Given the description of an element on the screen output the (x, y) to click on. 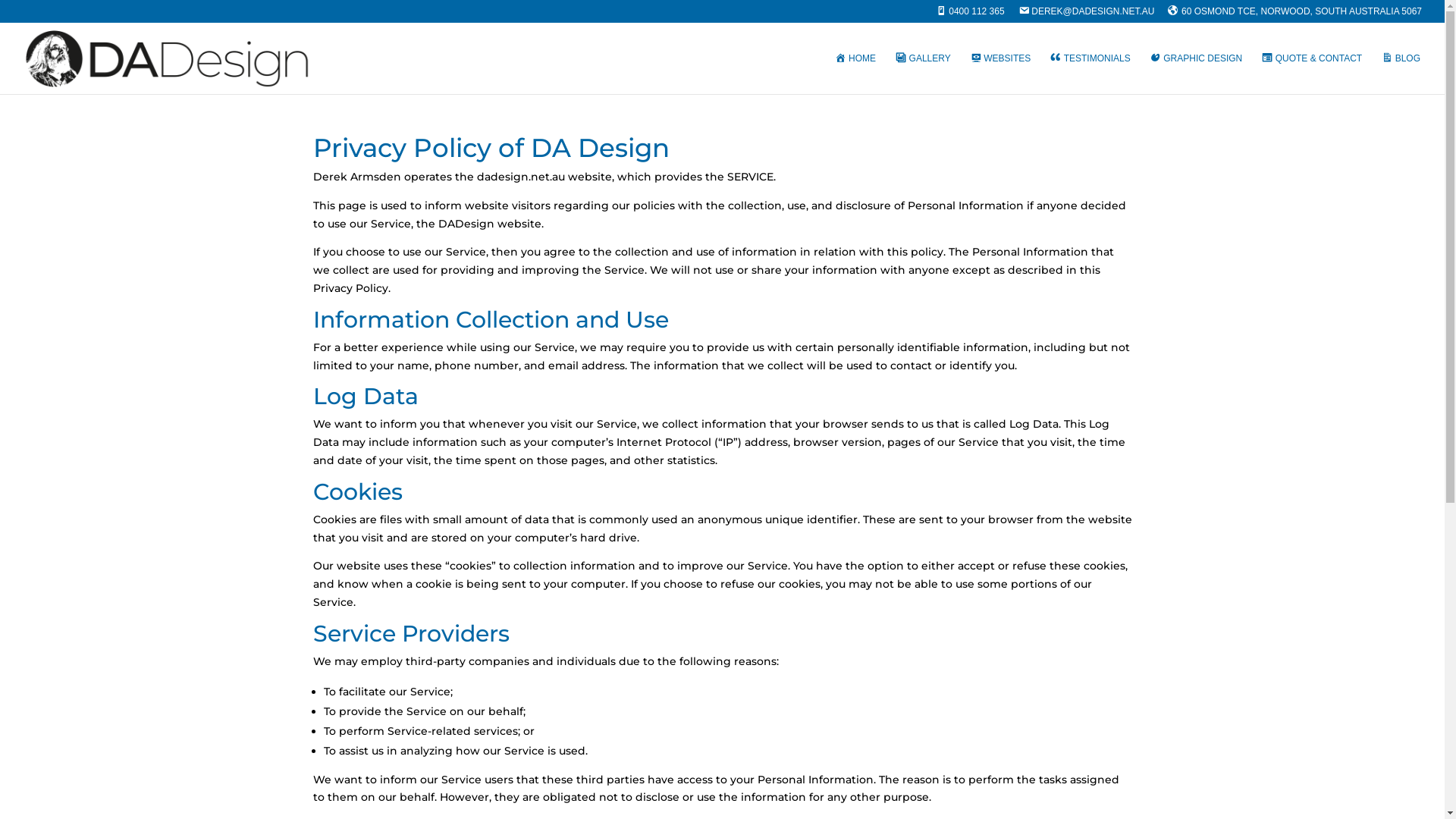
TESTIMONIALS Element type: text (1090, 73)
WEBSITES Element type: text (1000, 73)
GRAPHIC DESIGN Element type: text (1196, 73)
QUOTE & CONTACT Element type: text (1311, 73)
0400 112 365 Element type: text (969, 14)
BLOG Element type: text (1400, 73)
60 OSMOND TCE, NORWOOD, SOUTH AUSTRALIA 5067 Element type: text (1294, 14)
HOME Element type: text (854, 73)
GALLERY Element type: text (922, 73)
DEREK@DADESIGN.NET.AU Element type: text (1086, 14)
